Given the description of an element on the screen output the (x, y) to click on. 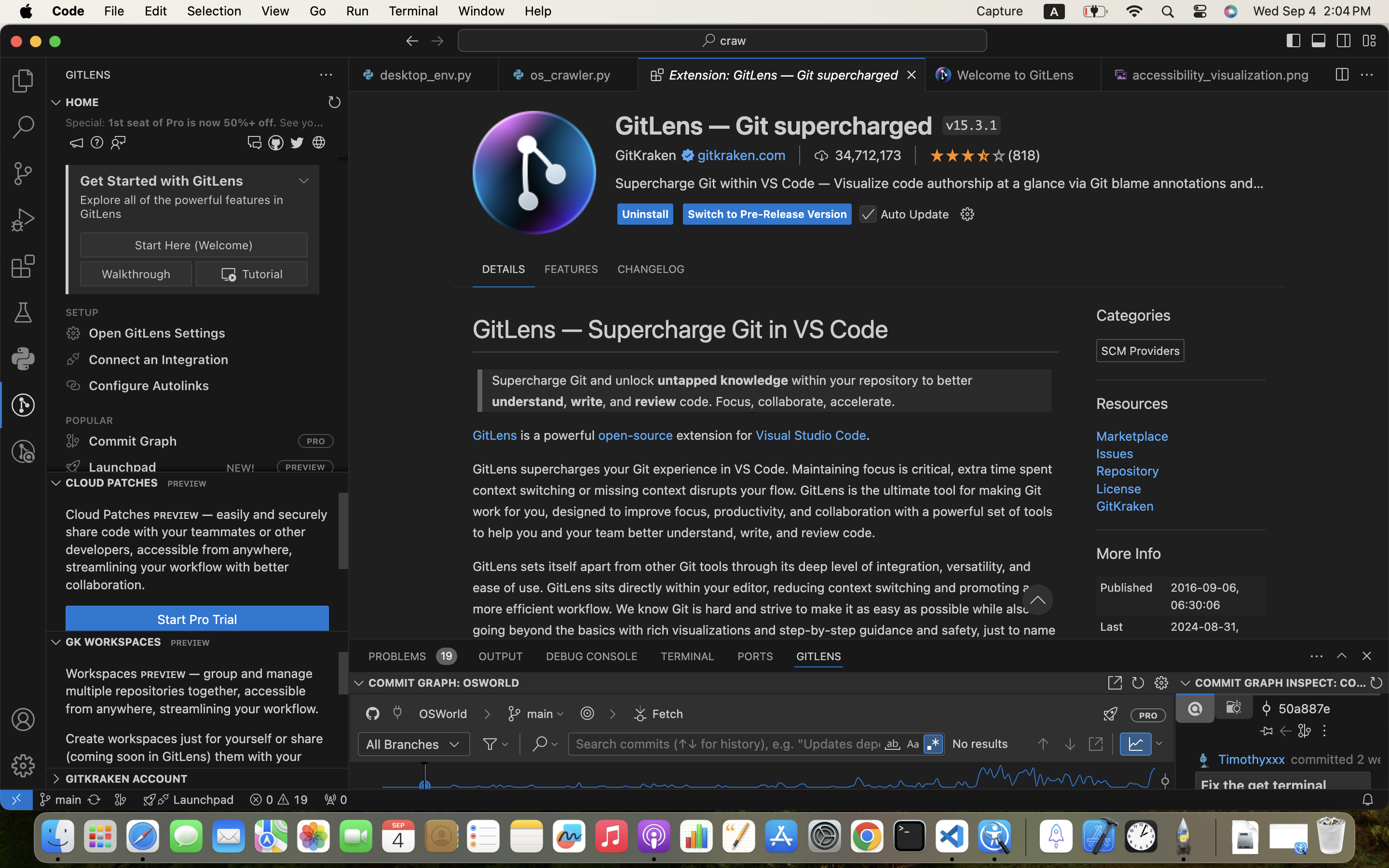
13 Element type: AXStaticText (394, 435)
, and highly Element type: AXStaticText (1274, 211)
 Element type: AXCheckBox (892, 744)
0.4285714328289032 Element type: AXDockItem (1024, 836)
 Element type: AXStaticText (995, 545)
